Given the description of an element on the screen output the (x, y) to click on. 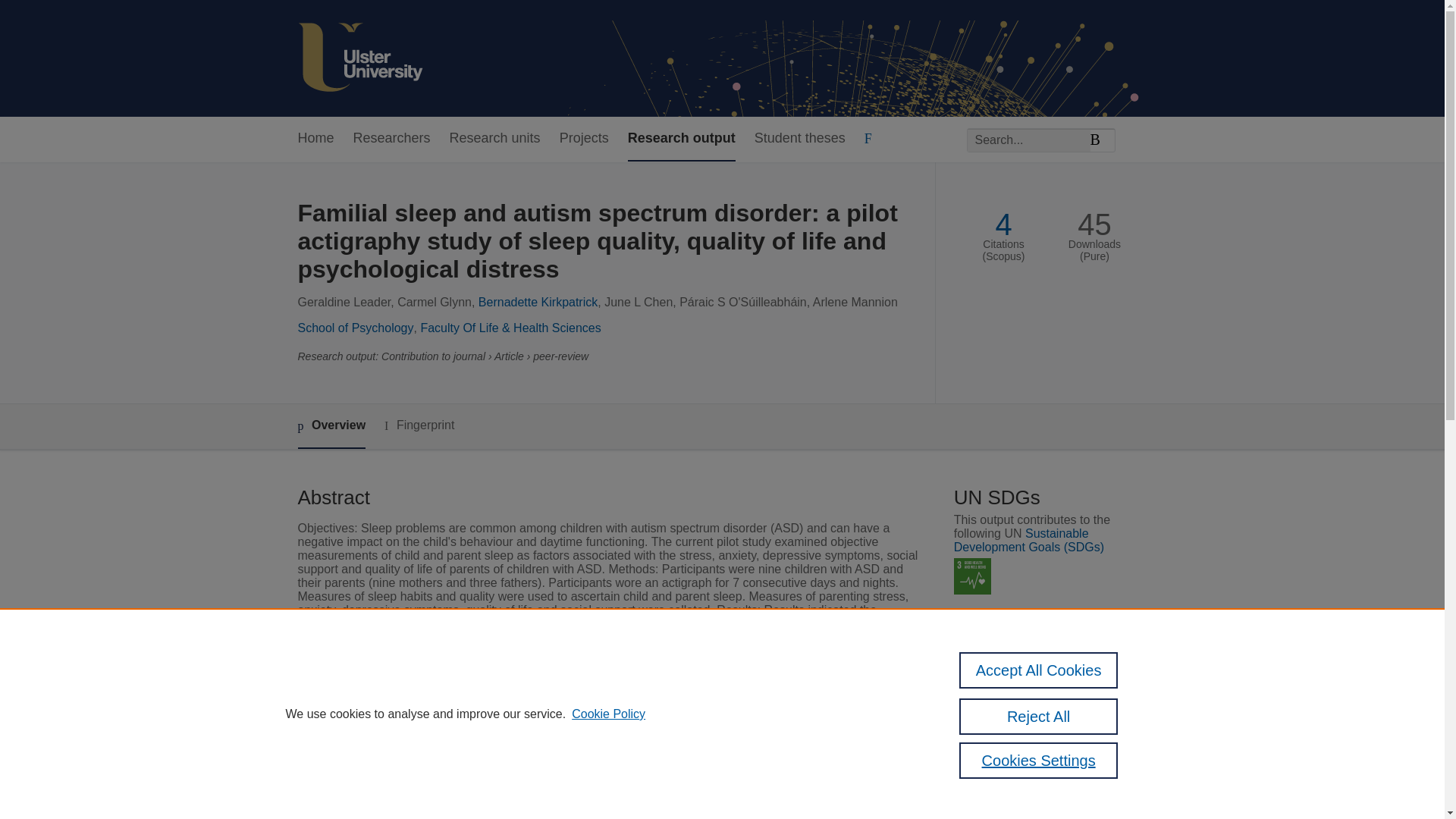
Research output (681, 139)
Researchers (391, 139)
Fingerprint (419, 425)
Bernadette Kirkpatrick (537, 301)
SDG 3 - Good Health and Well-being (972, 576)
Irish Journal of Psychological Medicine (611, 741)
Research units (494, 139)
School of Psychology (355, 327)
Ulster University Home (359, 58)
Link to publication in Scopus (1045, 801)
Overview (331, 426)
Projects (583, 139)
Student theses (799, 139)
